Given the description of an element on the screen output the (x, y) to click on. 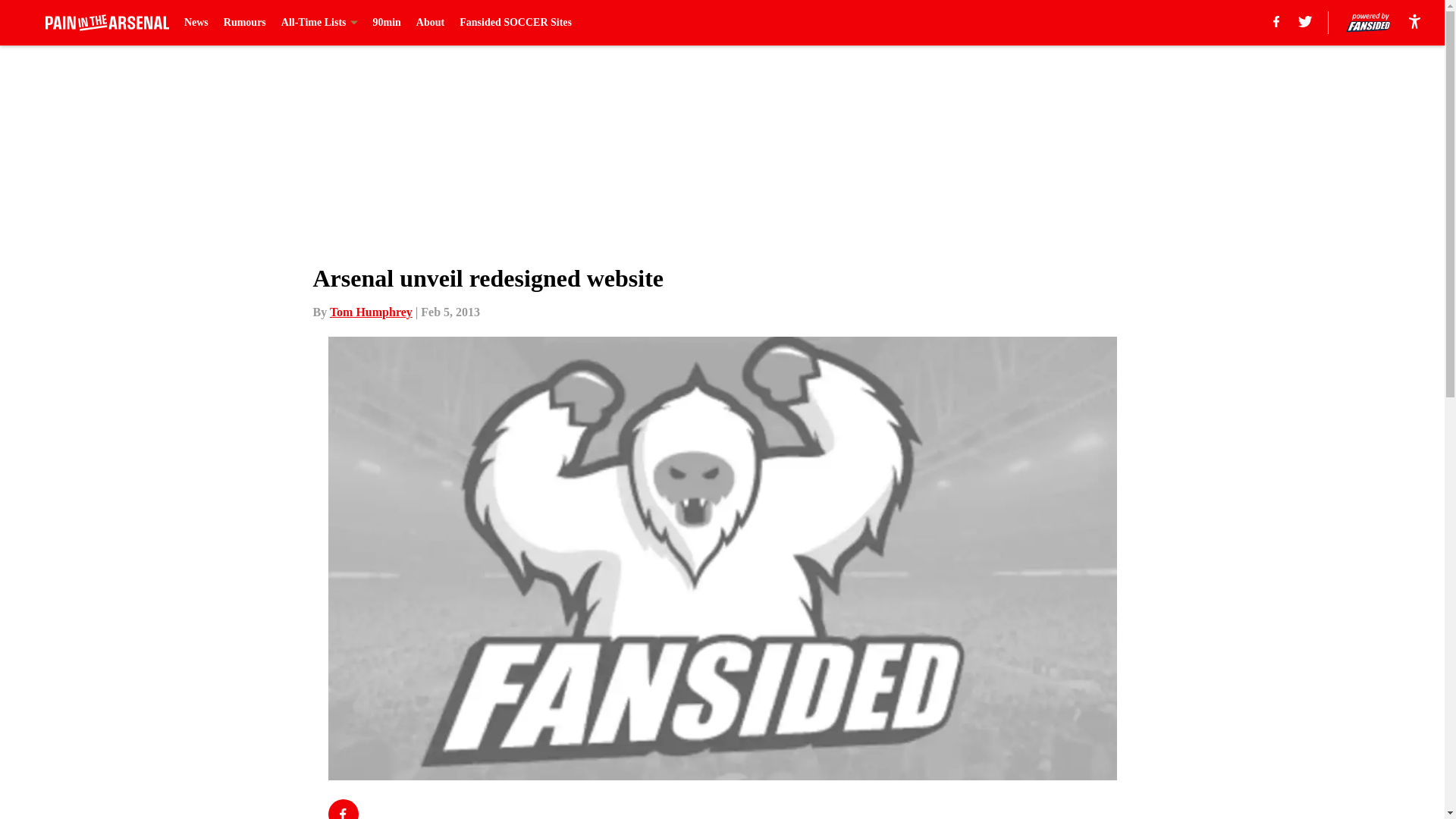
News (196, 22)
About (430, 22)
Tom Humphrey (371, 311)
Fansided SOCCER Sites (516, 22)
90min (386, 22)
Rumours (245, 22)
